Given the description of an element on the screen output the (x, y) to click on. 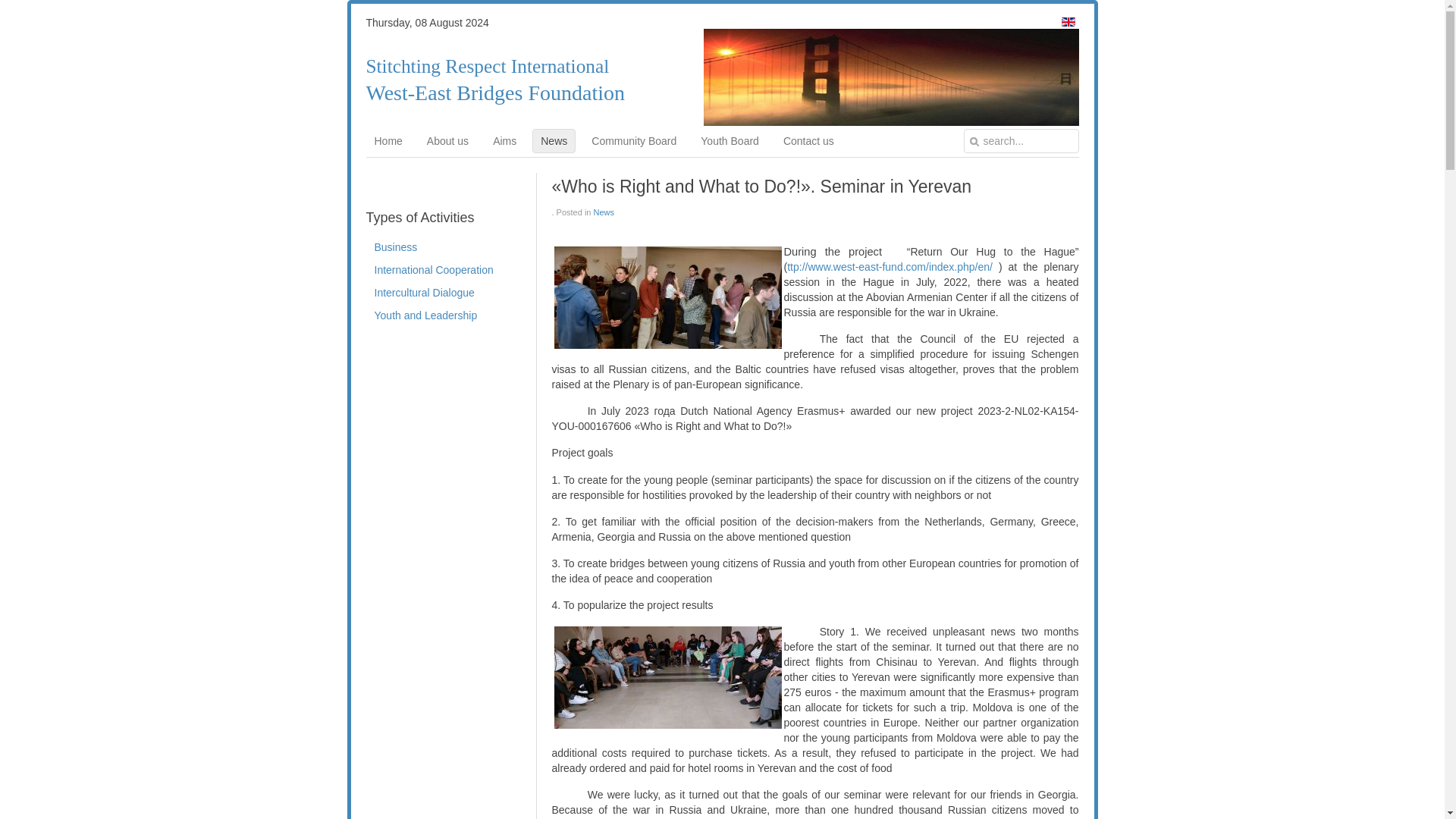
Youth Board (730, 140)
Youth and Leadership (443, 314)
Community Board (633, 140)
Aims (504, 140)
International Cooperation (443, 269)
Business (443, 246)
Home (387, 140)
About us (448, 140)
Reset (3, 2)
Contact us (808, 140)
News (604, 212)
Intercultural Dialogue (443, 292)
News (553, 140)
